Given the description of an element on the screen output the (x, y) to click on. 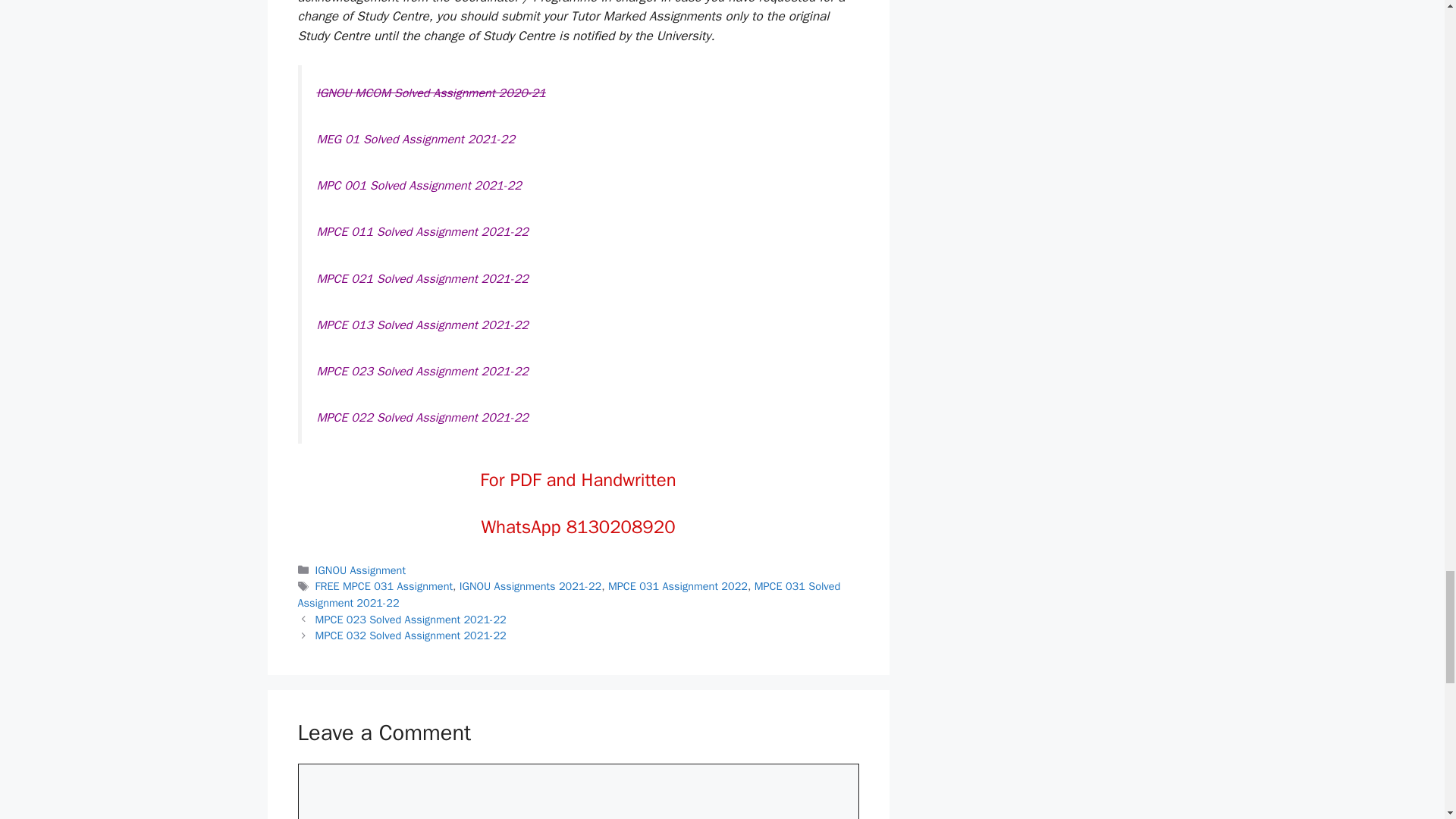
MPCE 032 Solved Assignment 2021-22 (410, 635)
MPCE 031 Assignment 2022 (678, 585)
IGNOU Assignments 2021-22 (531, 585)
IGNOU MCOM Solved Assignment 2020-21 (431, 92)
MPCE 023 Solved Assignment 2021-22 (410, 619)
IGNOU Assignment (360, 570)
MPCE 031 Solved Assignment 2021-22 (568, 594)
FREE MPCE 031 Assignment (383, 585)
